Given the description of an element on the screen output the (x, y) to click on. 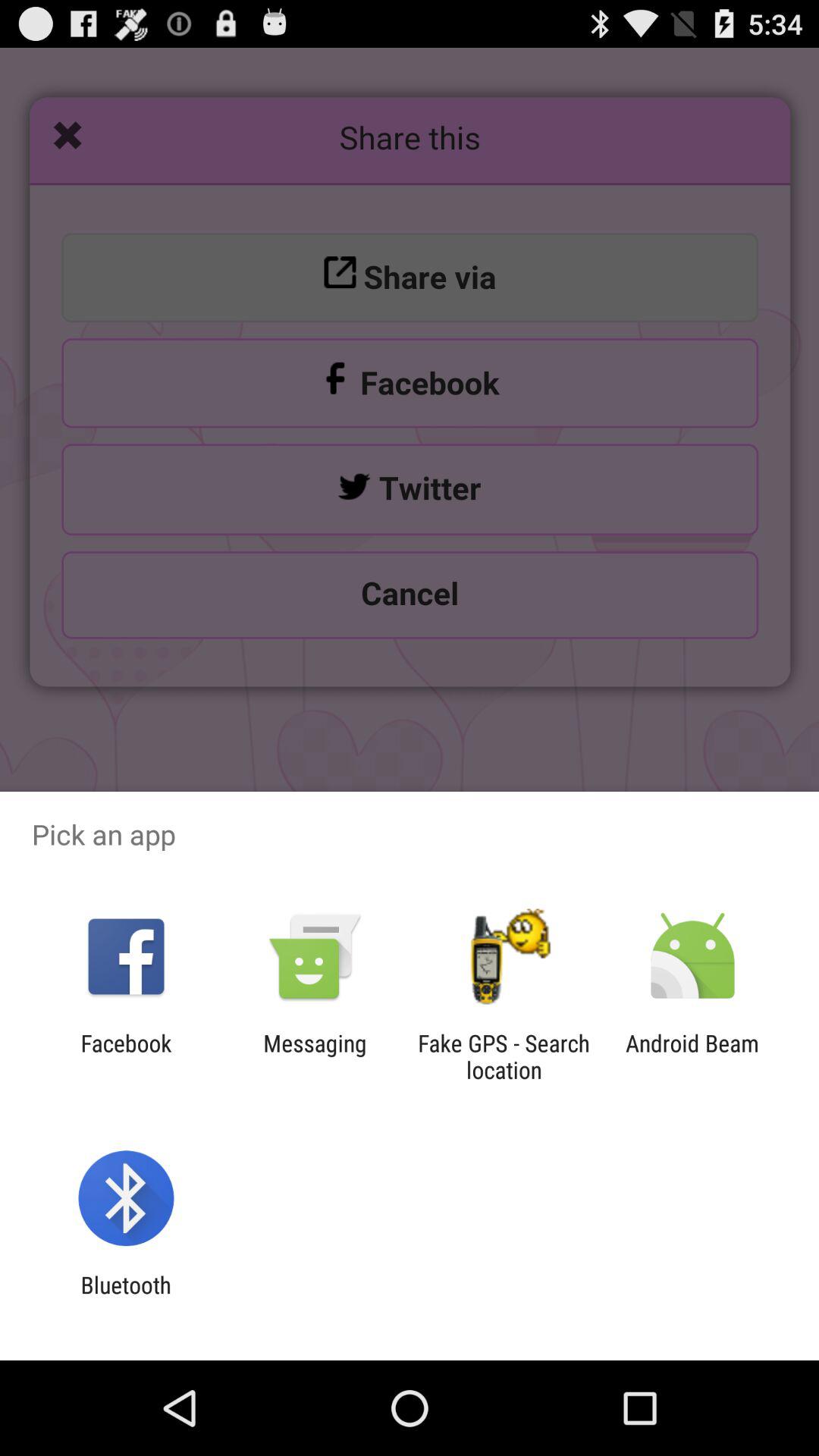
press the item to the left of messaging app (125, 1056)
